Given the description of an element on the screen output the (x, y) to click on. 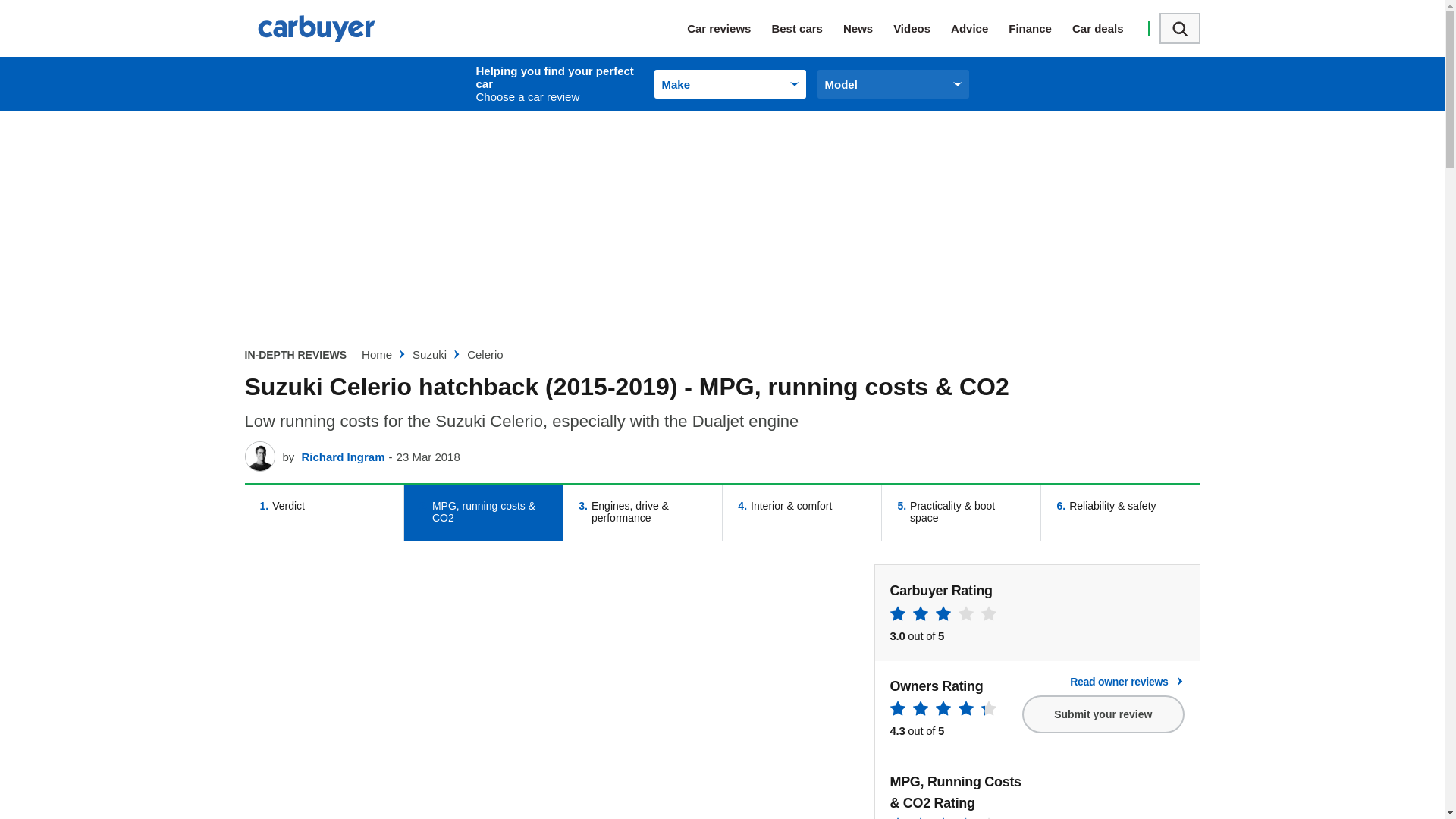
Car reviews (729, 27)
Best cars (807, 27)
Videos (921, 27)
3 Stars (942, 615)
Leave your review (1102, 714)
Car deals (1107, 27)
Advice (979, 27)
News (868, 27)
4.27 Stars (942, 711)
3.5 Stars (942, 818)
